Given the description of an element on the screen output the (x, y) to click on. 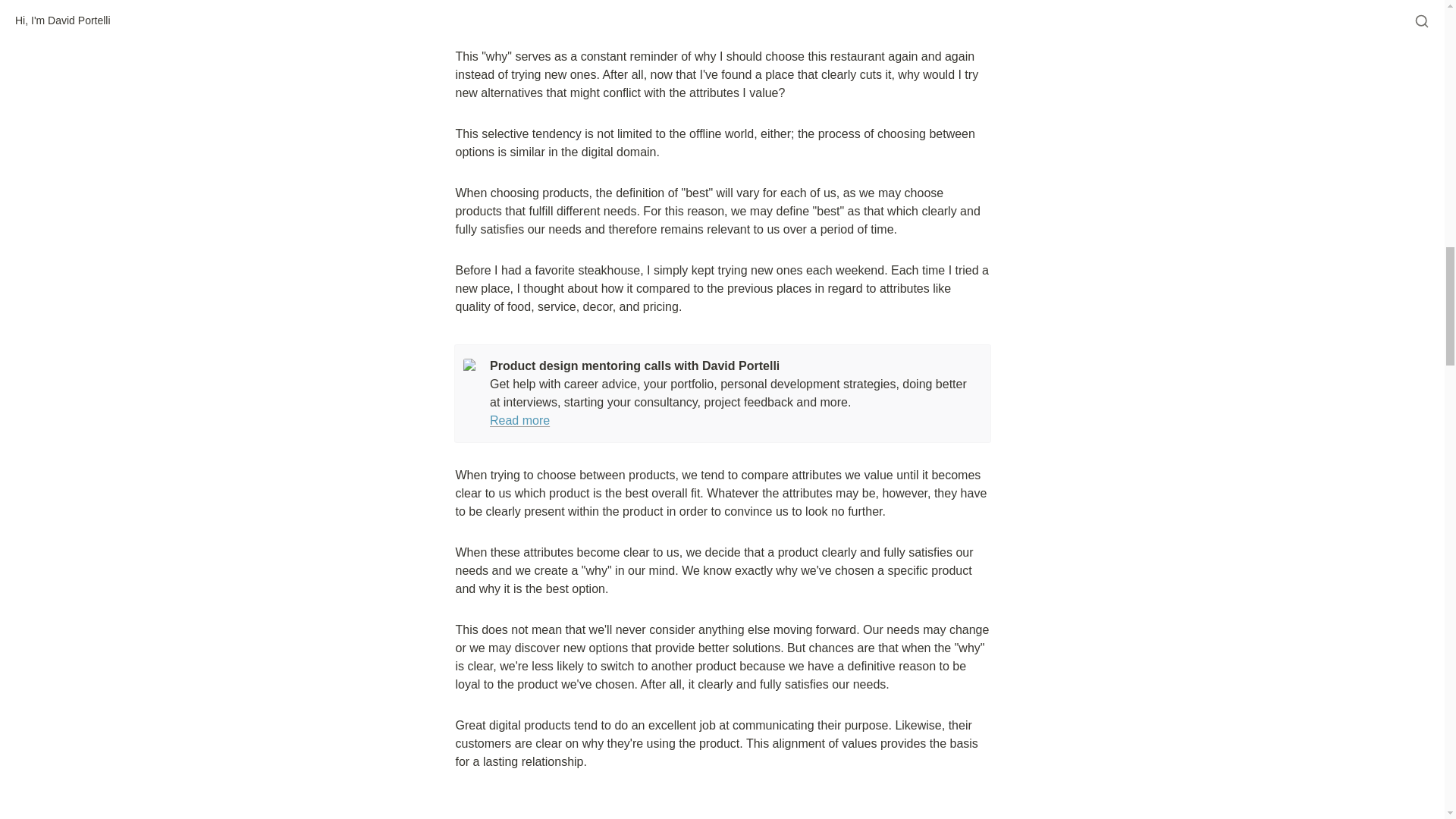
Read more (519, 420)
